Given the description of an element on the screen output the (x, y) to click on. 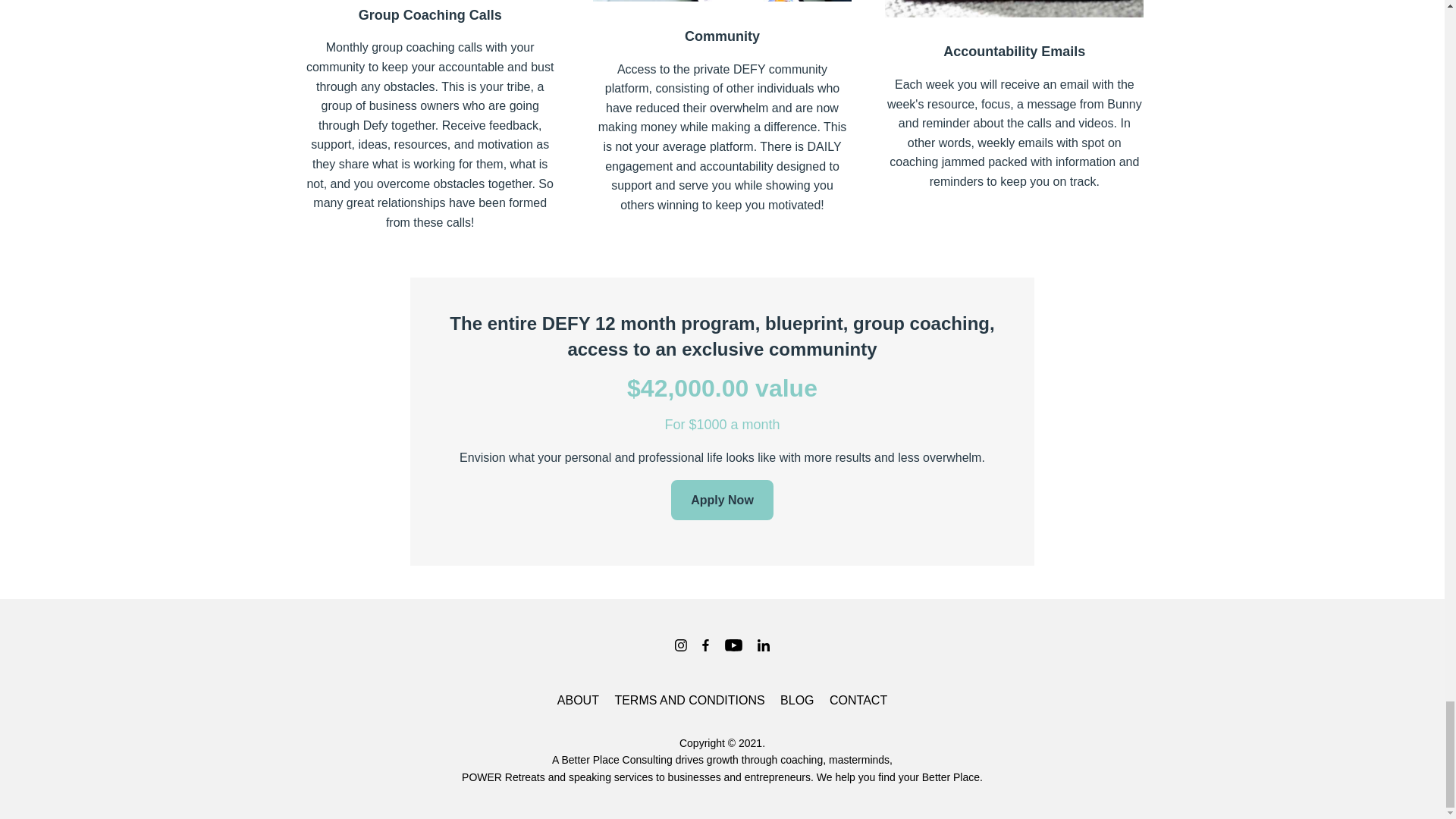
Apply Now (722, 499)
Youtube (733, 644)
CONTACT (857, 700)
Linkedin (763, 644)
BLOG (796, 700)
ABOUT (577, 700)
Instagram (680, 644)
TERMS AND CONDITIONS (689, 700)
